Given the description of an element on the screen output the (x, y) to click on. 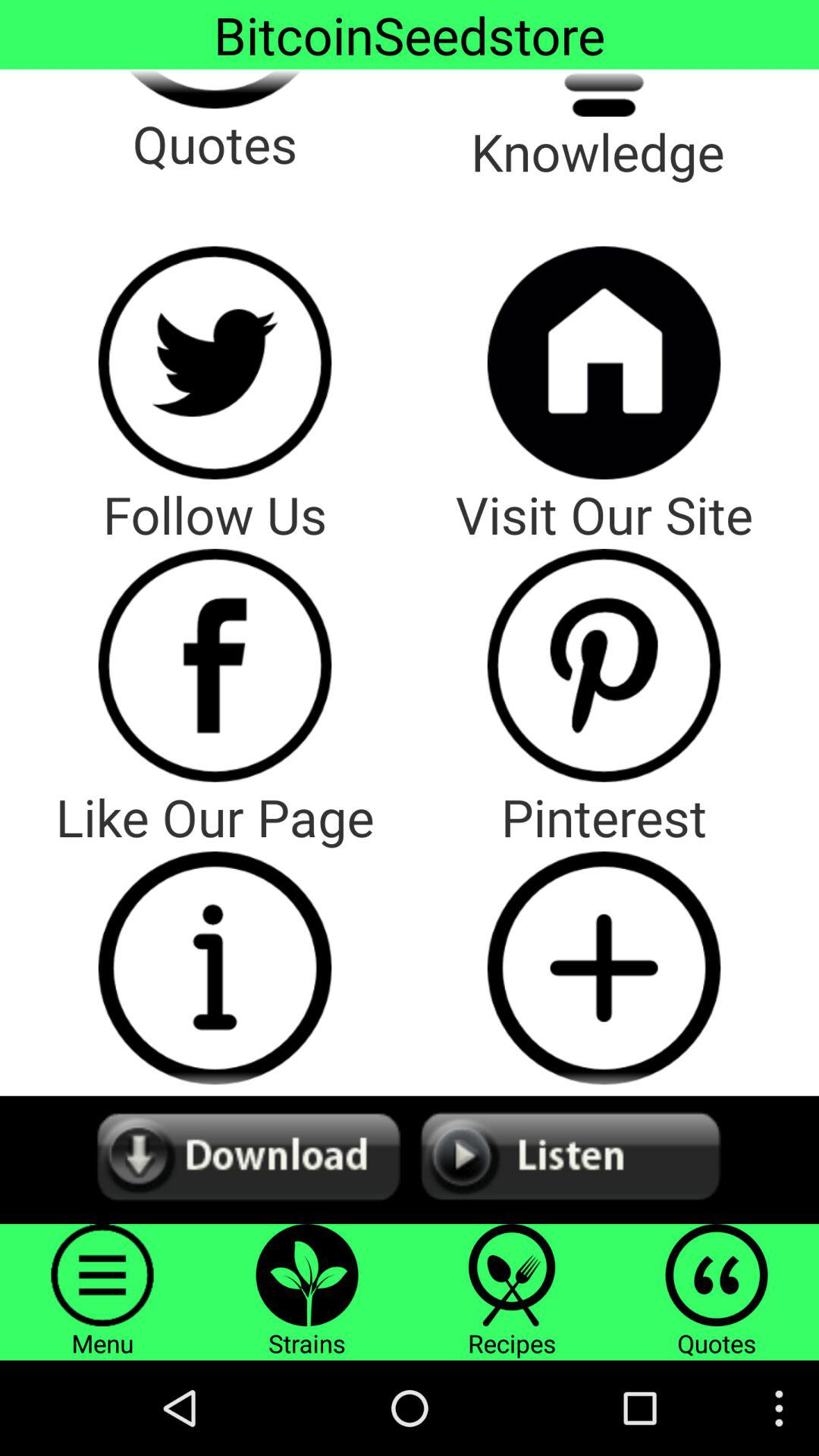
twitter follow (214, 362)
